Given the description of an element on the screen output the (x, y) to click on. 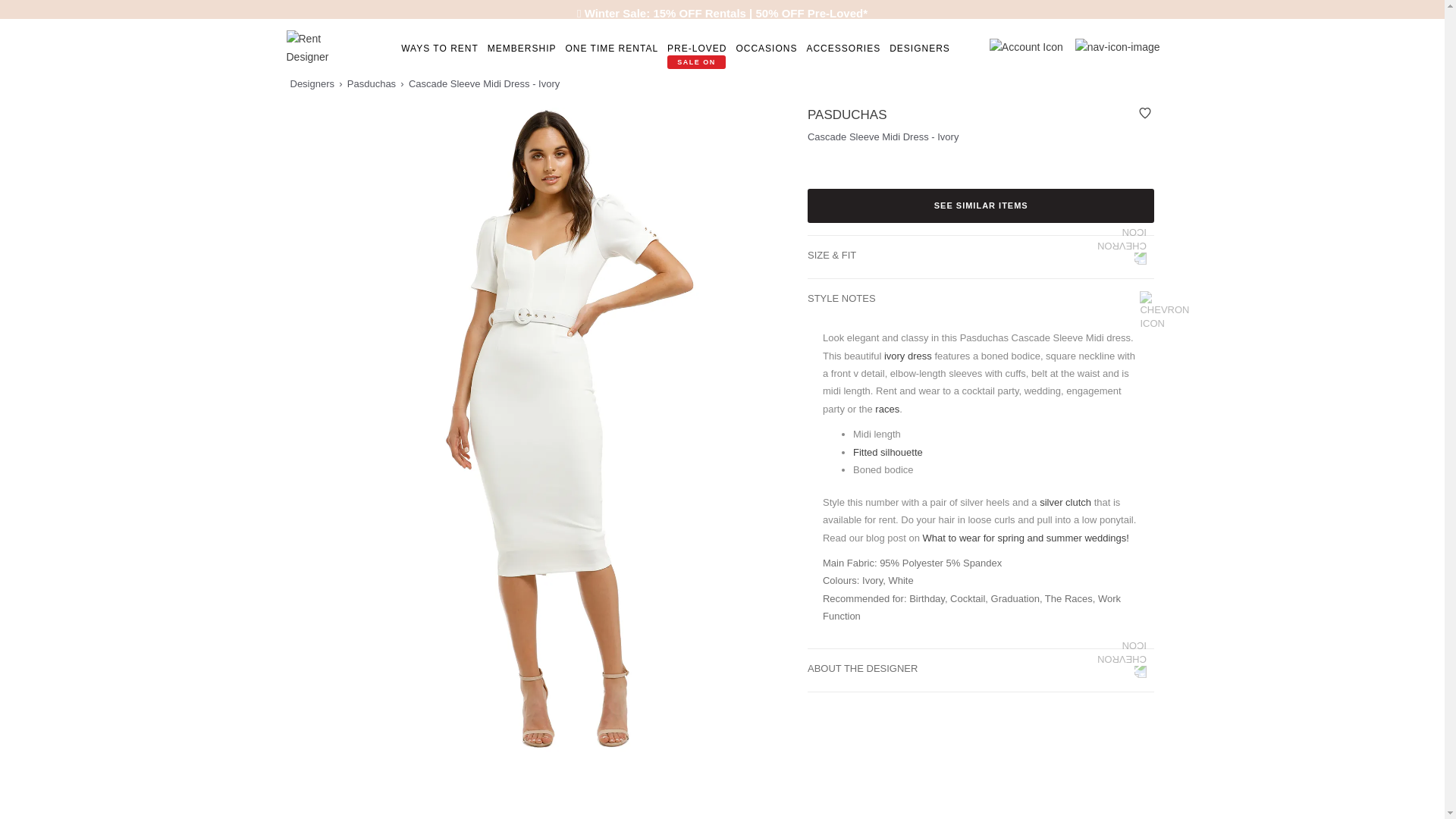
WAYS TO RENT (439, 48)
Rent Designer Dresses Online - Glam Corner (316, 47)
MEMBERSHIP (521, 48)
